Given the description of an element on the screen output the (x, y) to click on. 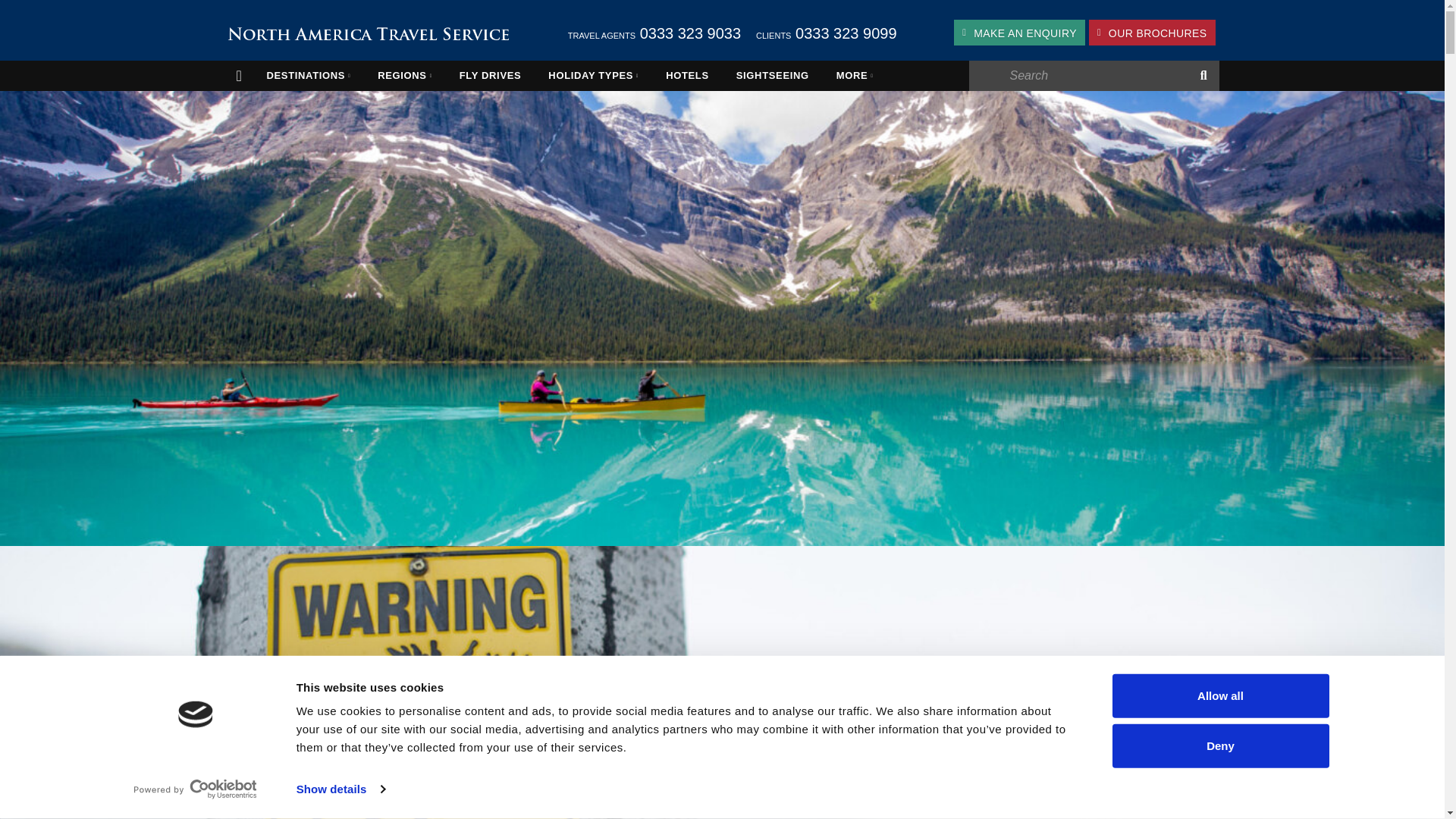
Show details (340, 789)
